Given the description of an element on the screen output the (x, y) to click on. 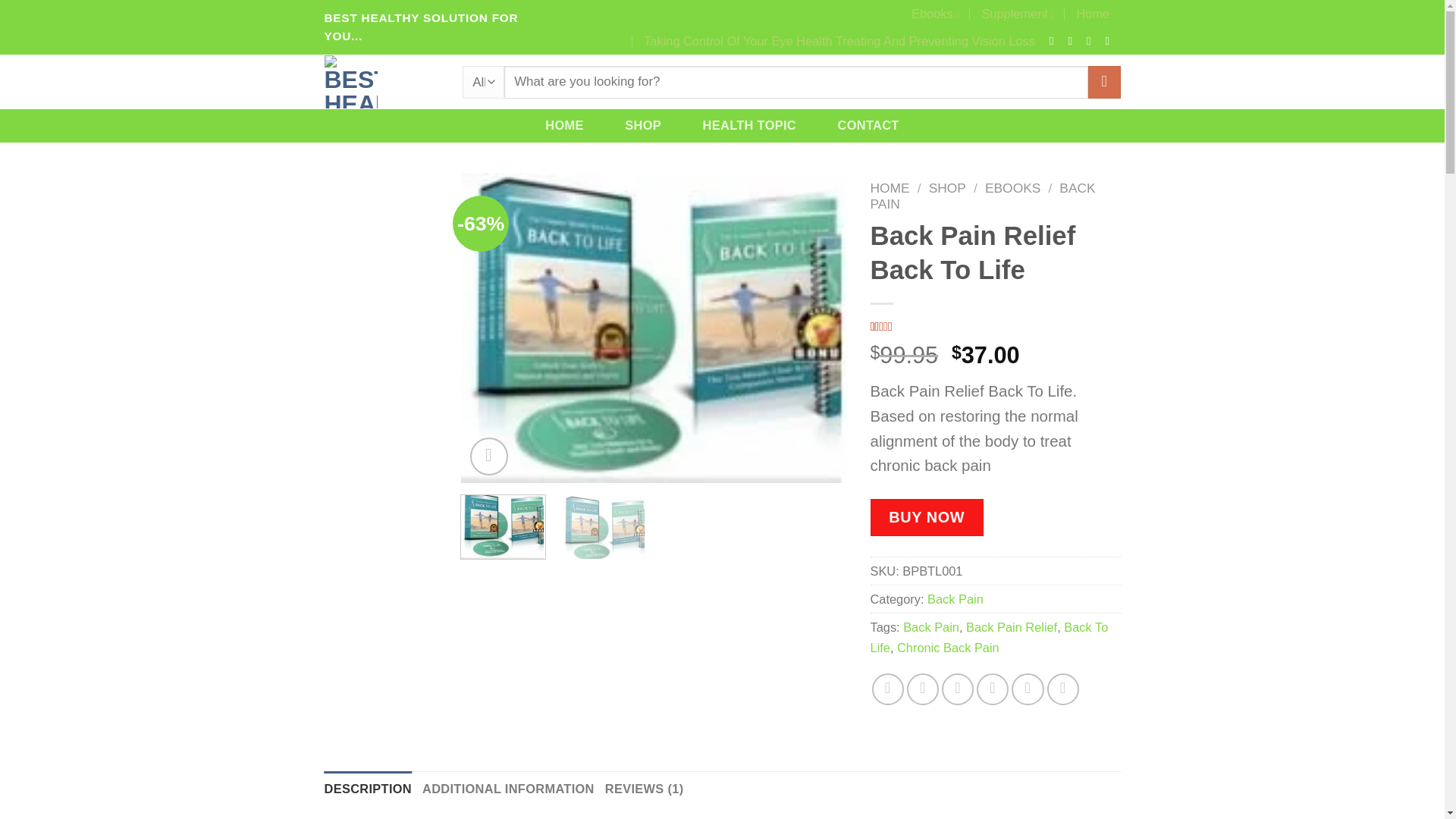
Ebooks (935, 13)
HOME (564, 124)
Share on Tumblr (1062, 689)
Zoom (489, 456)
Share on LinkedIn (1027, 689)
Share on VKontakte (992, 689)
Pin on Pinterest (958, 689)
Search (1103, 82)
Share on Facebook (888, 689)
